Given the description of an element on the screen output the (x, y) to click on. 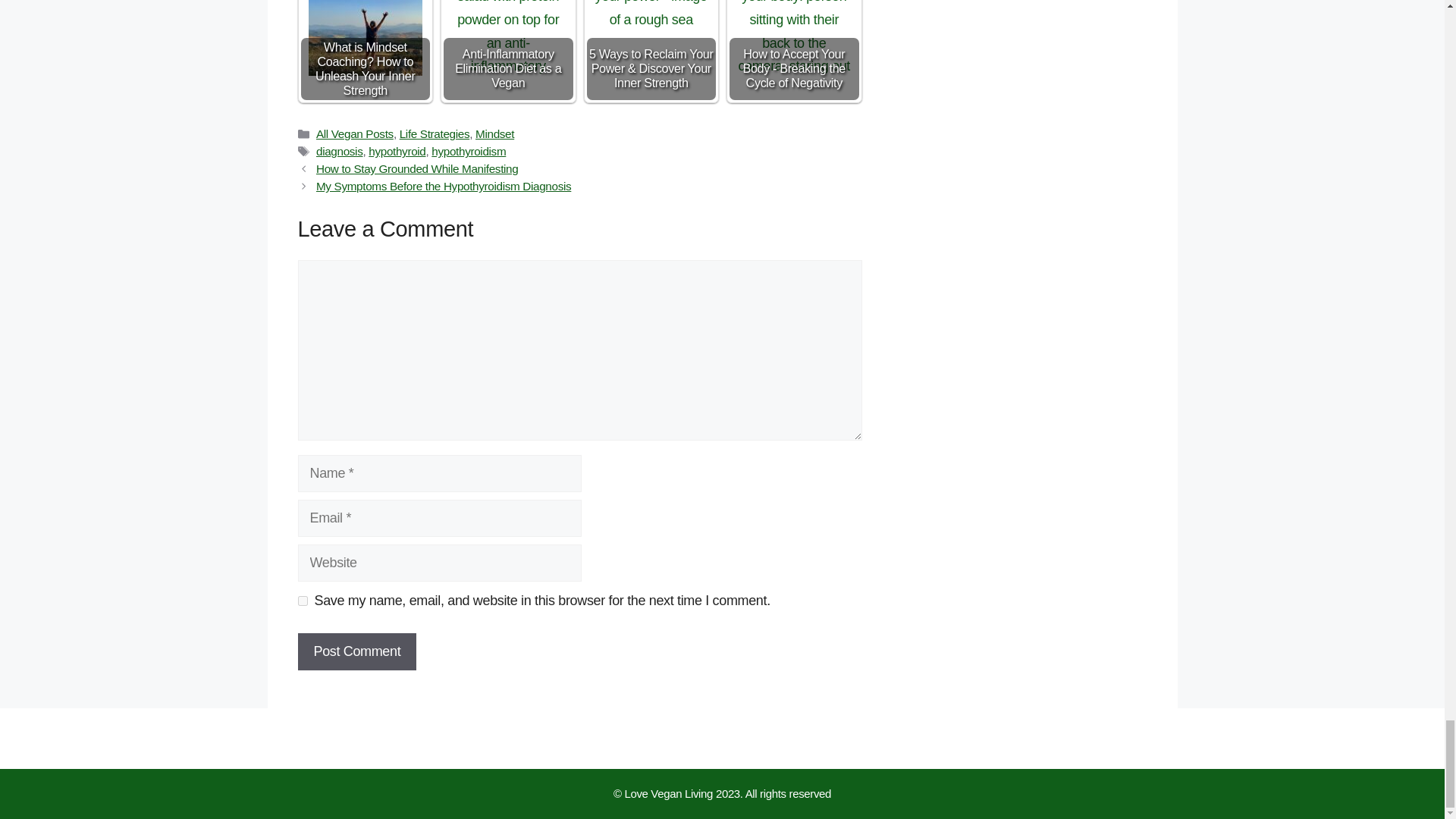
Anti-Inflammatory Elimination Diet as a Vegan (507, 38)
yes (302, 601)
What is Mindset Coaching? How to Unleash Your Inner Strength (365, 38)
How to Accept Your Body - Breaking the Cycle of Negativity (793, 38)
Post Comment (356, 651)
